Given the description of an element on the screen output the (x, y) to click on. 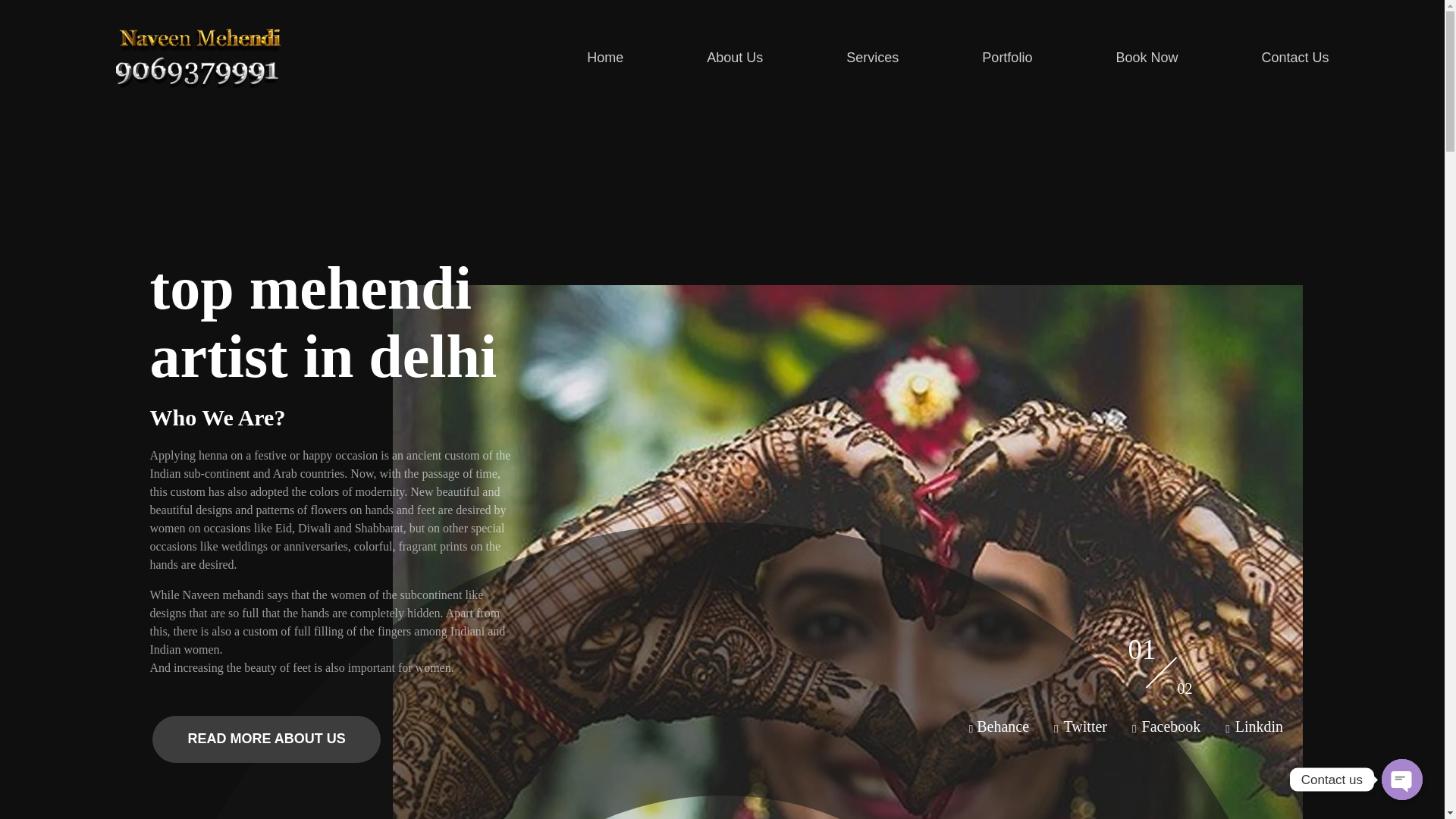
Contact Us (1273, 56)
READ MORE ABOUT US (265, 738)
Naveenmehandiartist (207, 101)
Behance (1002, 728)
Book Now (1131, 728)
Services (1147, 56)
Linkdin (872, 56)
Portfolio (1257, 728)
Naveenmehandiartist (1007, 56)
Facebook (198, 55)
Naveenmehandiartist (1170, 728)
Home (207, 101)
Twitter (625, 56)
About Us (1084, 728)
